Given the description of an element on the screen output the (x, y) to click on. 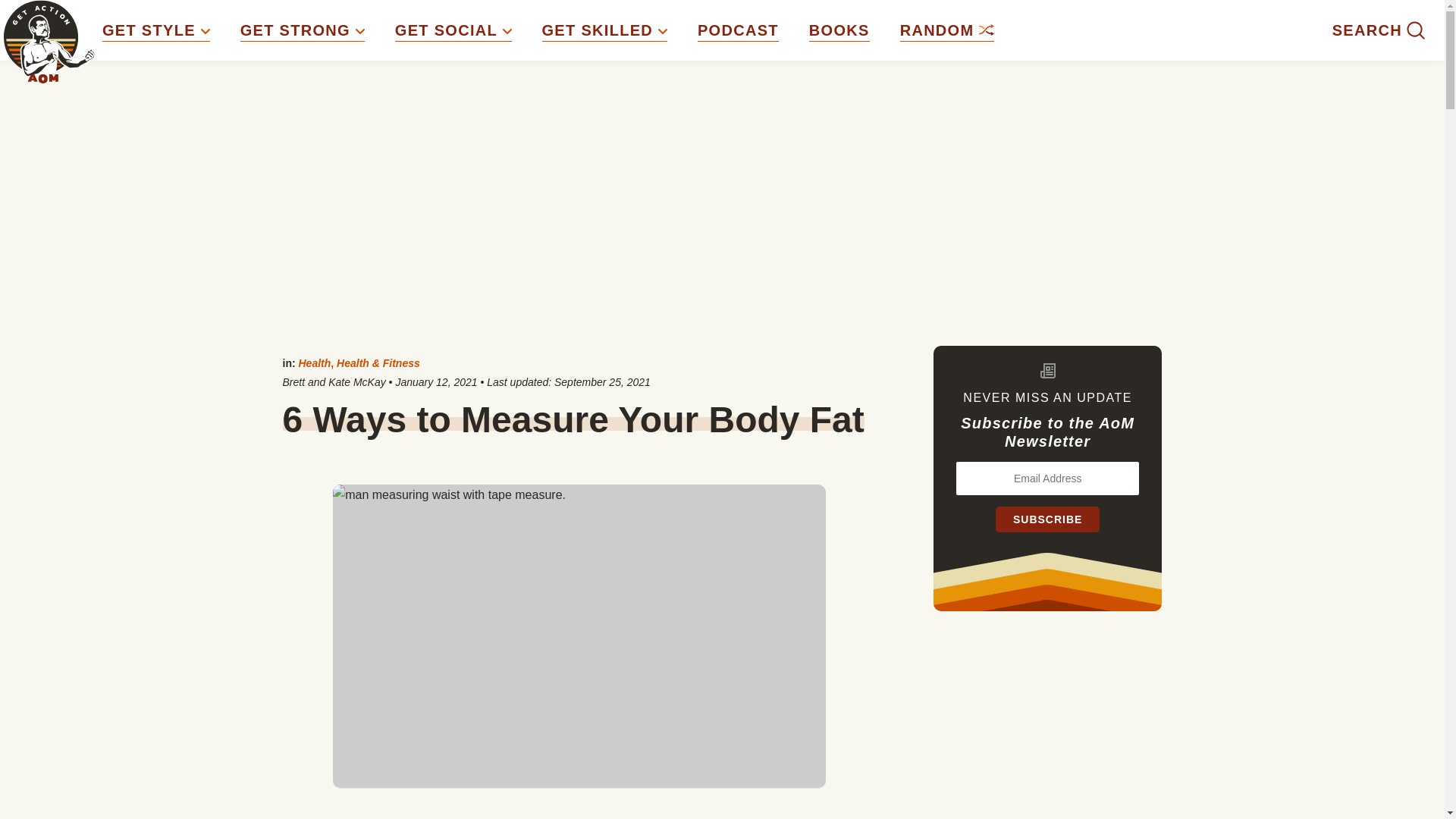
BOOKS (839, 30)
RANDOM (946, 30)
GET STRONG (302, 30)
Subscribe (1047, 519)
GET SKILLED (603, 30)
PODCAST (737, 30)
GET SOCIAL (453, 30)
GET STYLE (155, 30)
